Given the description of an element on the screen output the (x, y) to click on. 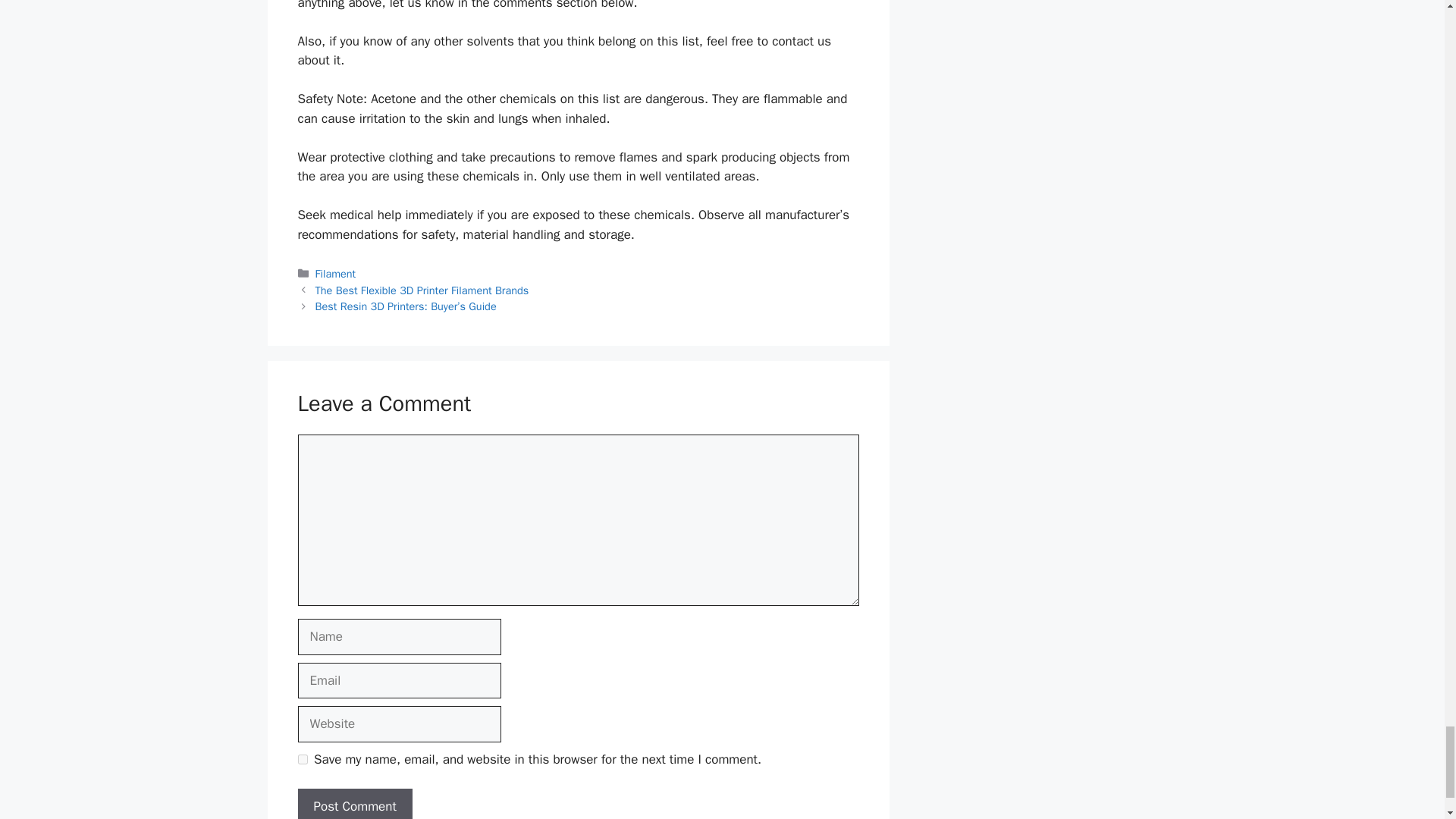
yes (302, 759)
Post Comment (354, 803)
